Given the description of an element on the screen output the (x, y) to click on. 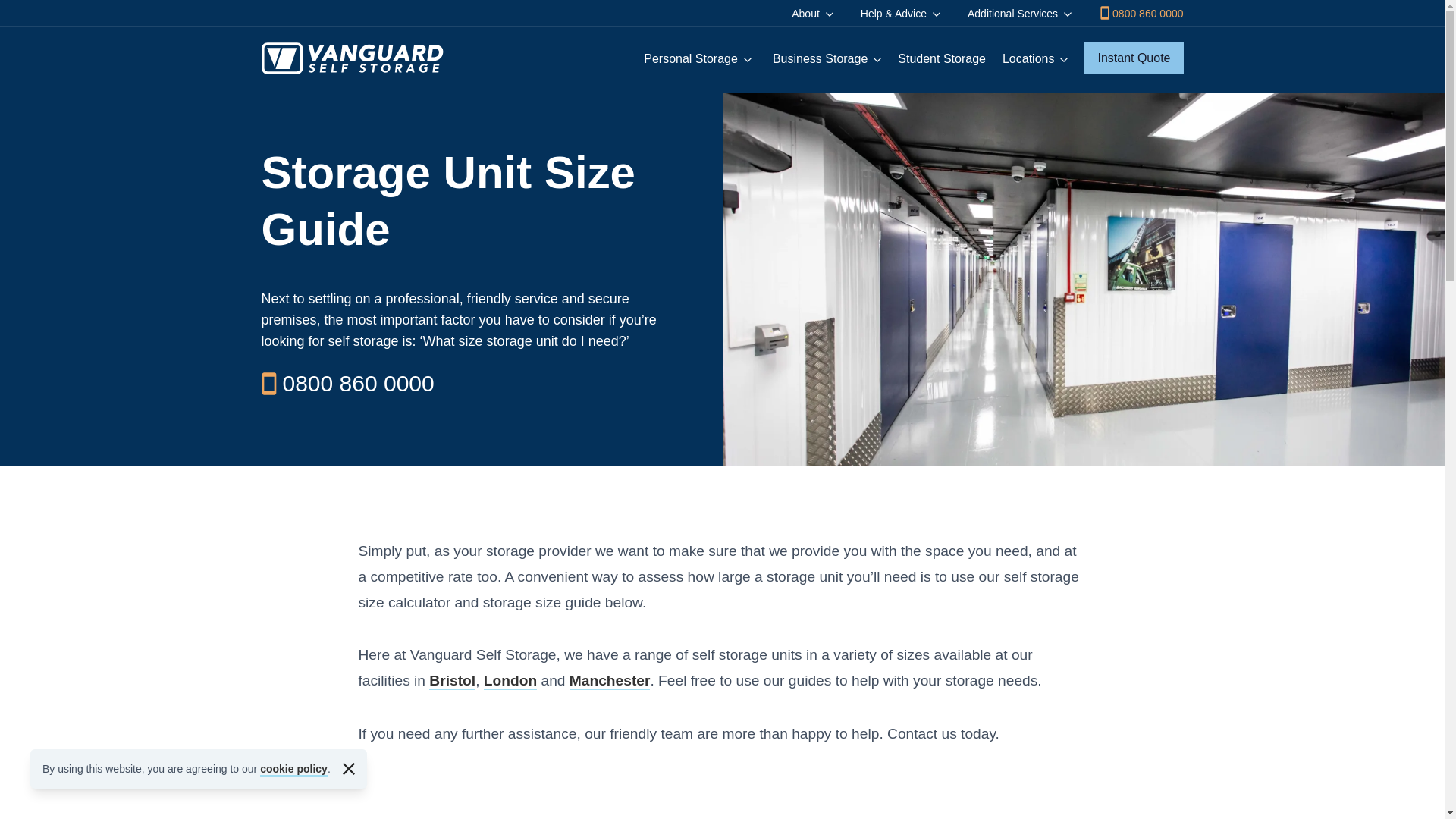
Additional Services (1018, 13)
Student Storage (941, 58)
About (812, 13)
Personal Storage (697, 58)
0800 860 0000 (1141, 12)
Locations (1035, 58)
Business Storage (826, 58)
